Given the description of an element on the screen output the (x, y) to click on. 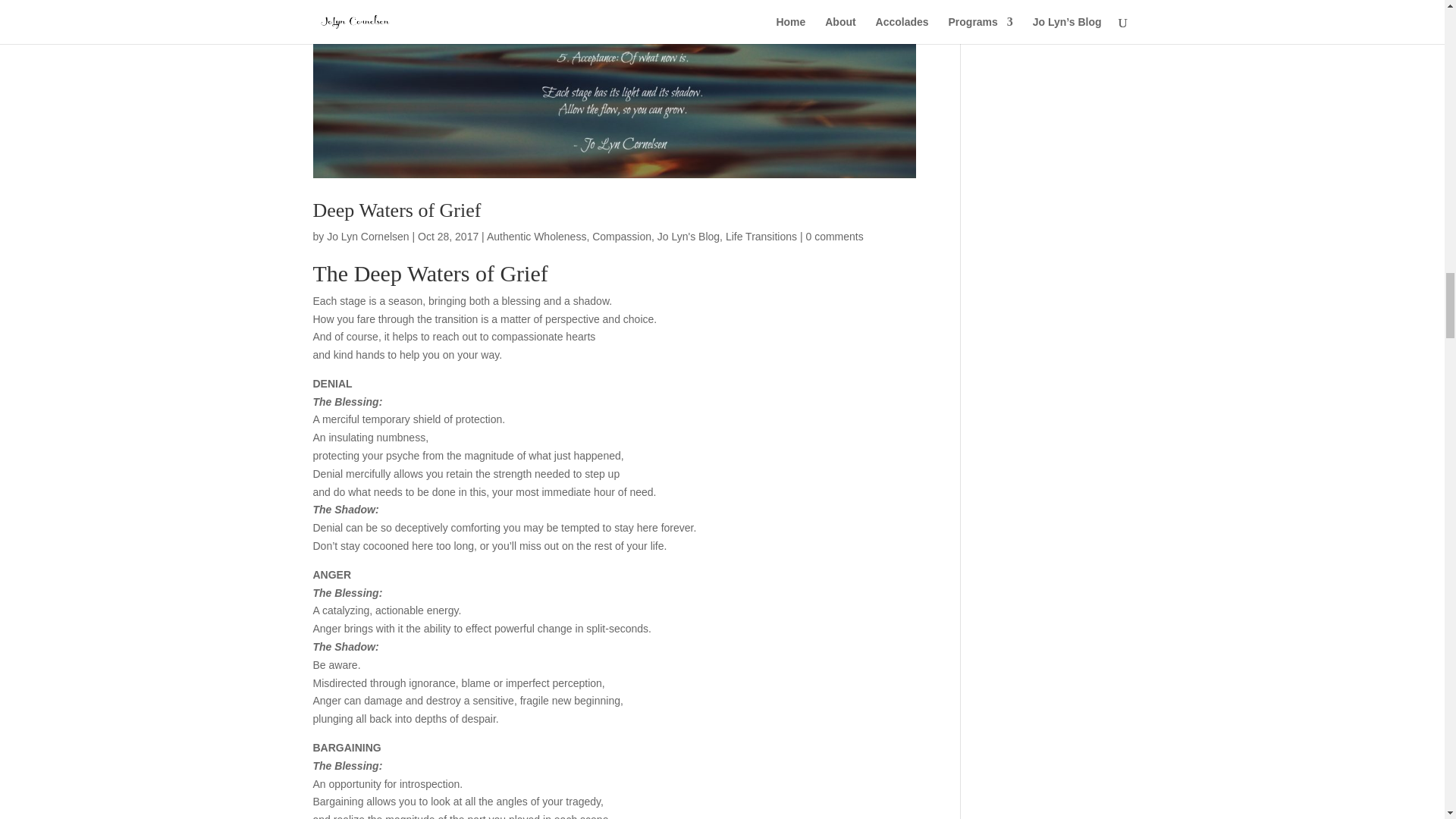
Jo Lyn Cornelsen (367, 236)
Life Transitions (760, 236)
Jo Lyn's Blog (688, 236)
Compassion (621, 236)
Authentic Wholeness (536, 236)
Deep Waters of Grief (396, 210)
0 comments (834, 236)
Posts by Jo Lyn Cornelsen (367, 236)
